Given the description of an element on the screen output the (x, y) to click on. 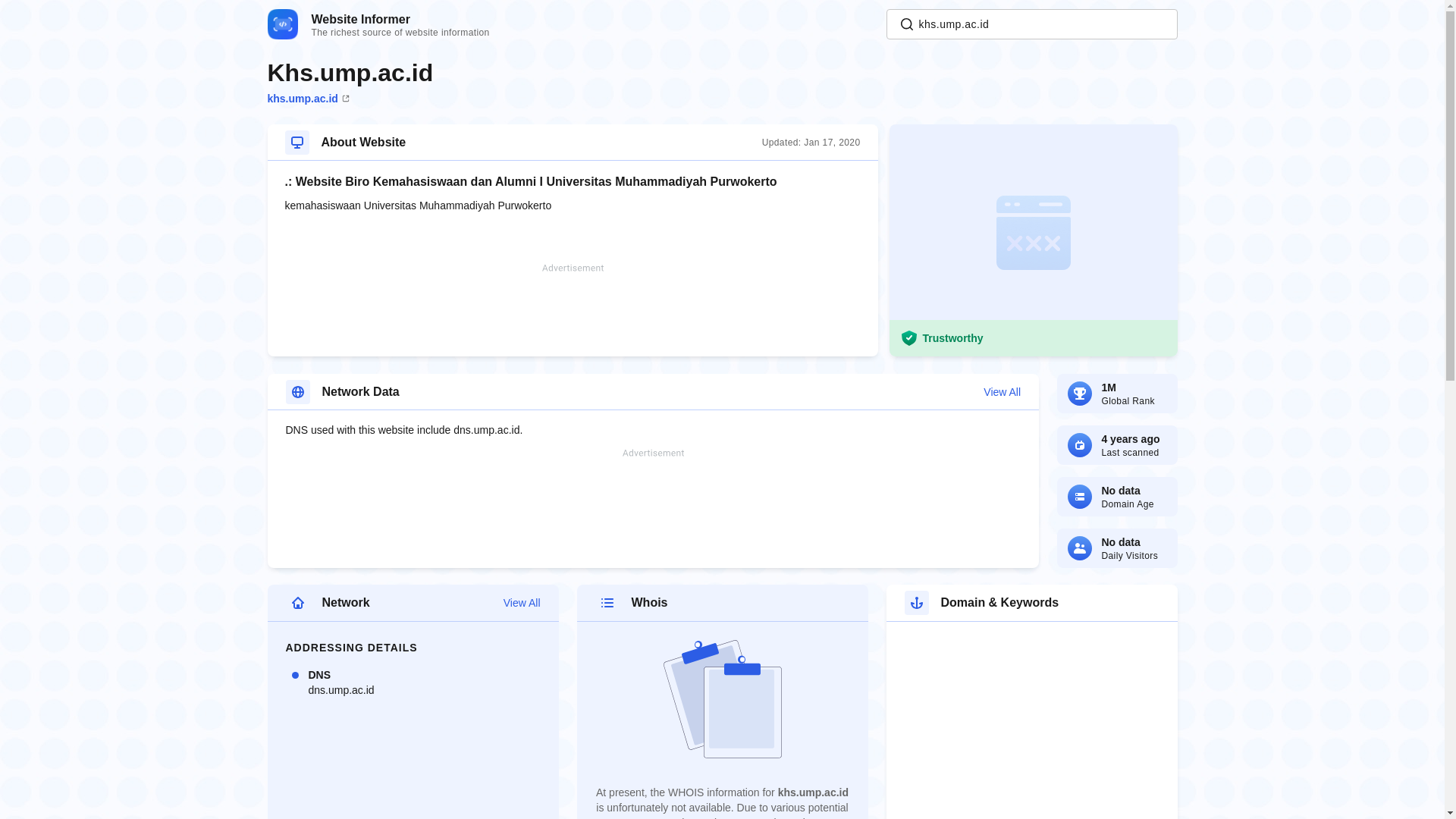
Khs.ump.ac.id thumbnail (1032, 240)
Advertisement (572, 309)
Advertisement (653, 495)
khs.ump.ac.id (1031, 23)
View All (377, 24)
View All (836, 391)
khs.ump.ac.id (496, 603)
khs.ump.ac.id (307, 98)
Advertisement (1031, 23)
